Given the description of an element on the screen output the (x, y) to click on. 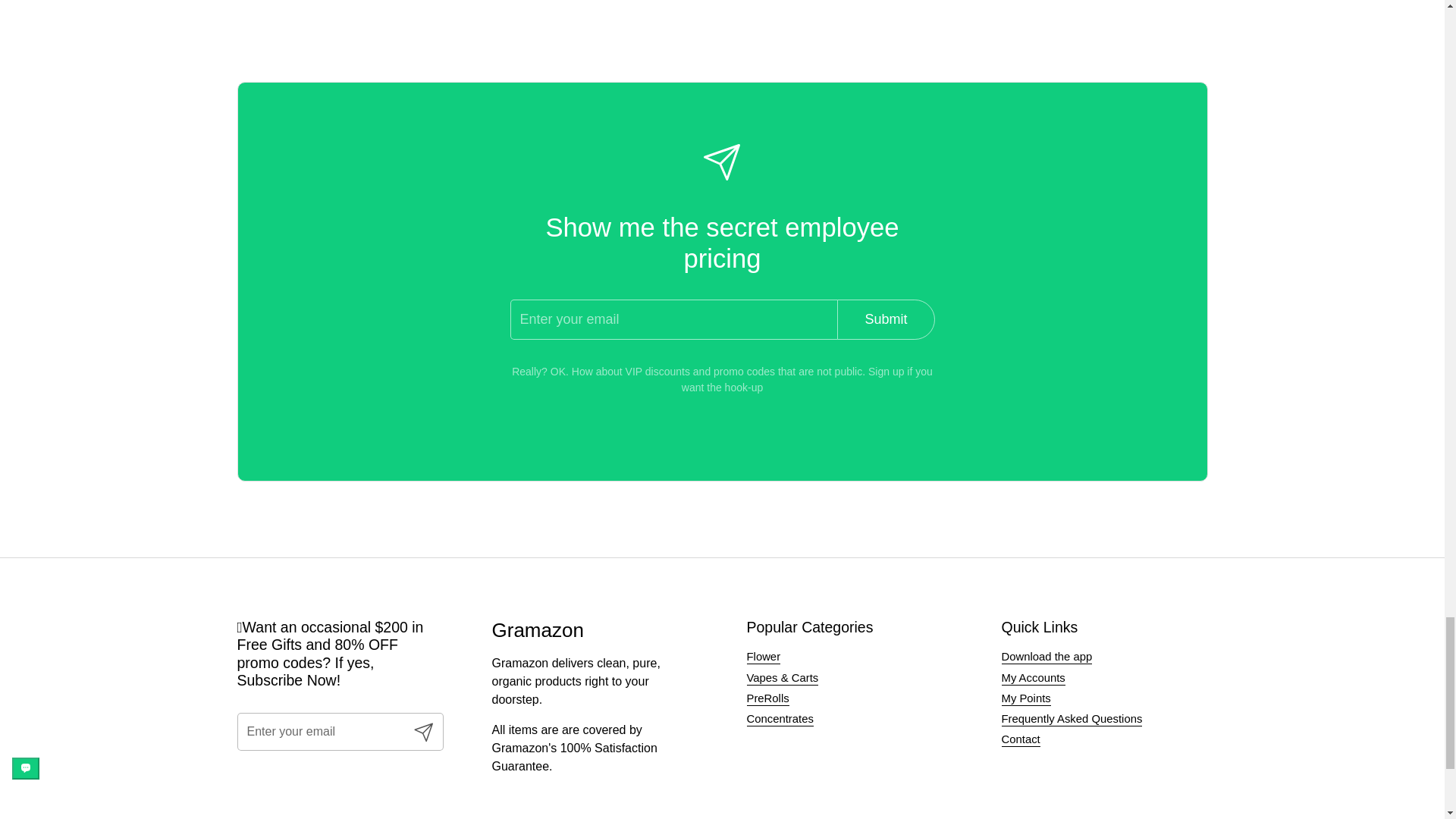
Submit (885, 319)
PreRolls (767, 698)
Submit (423, 731)
My Accounts (1032, 678)
Flower (762, 657)
Download the app (1046, 657)
Concentrates (778, 719)
